Given the description of an element on the screen output the (x, y) to click on. 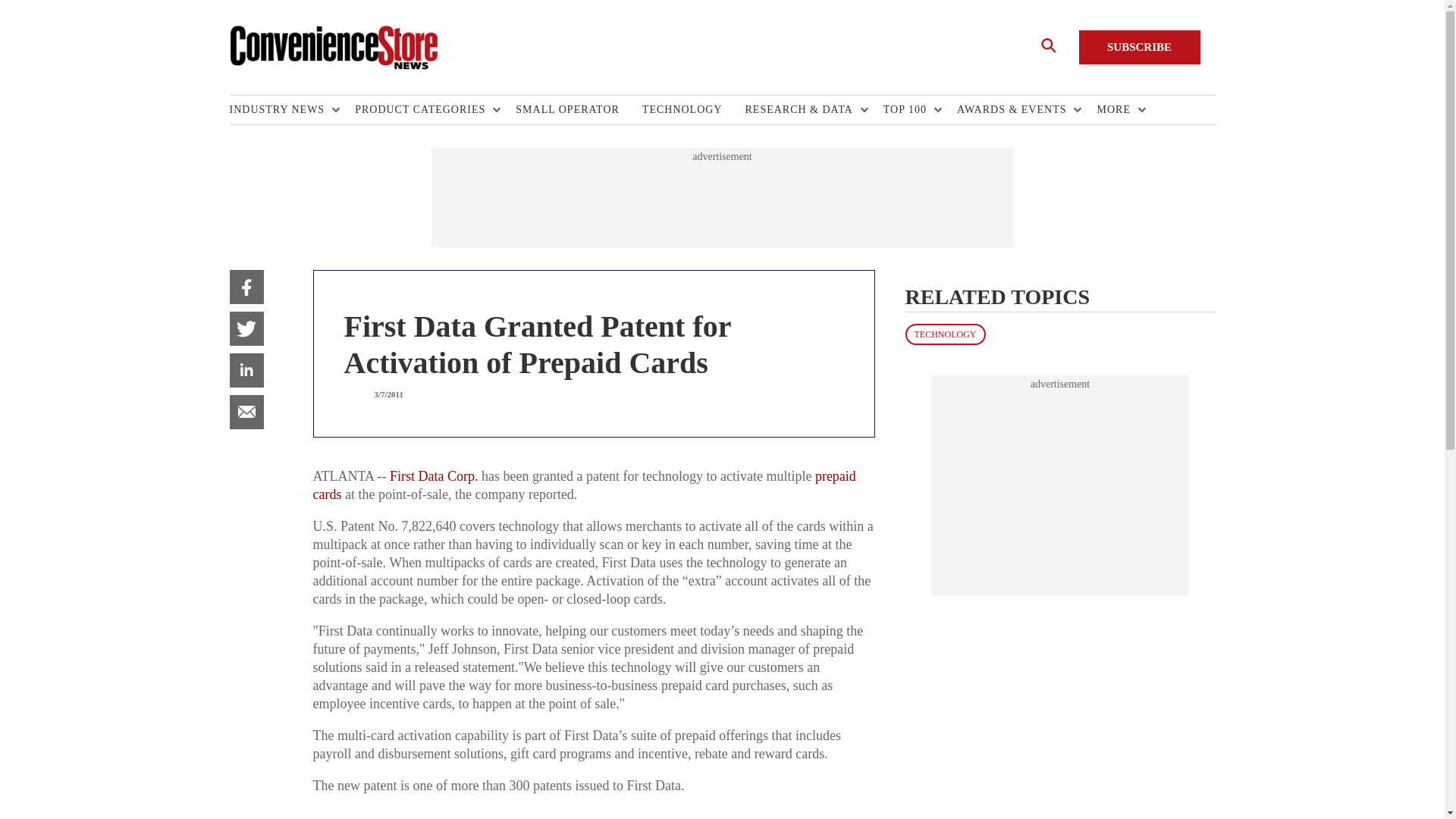
SUBSCRIBE (1138, 47)
PRODUCT CATEGORIES (424, 109)
TECHNOLOGY (693, 109)
3rd party ad content (721, 197)
INDUSTRY NEWS (279, 109)
3rd party ad content (1059, 485)
email (245, 411)
SMALL OPERATOR (578, 109)
TOP 100 (908, 109)
twitter (245, 328)
